Given the description of an element on the screen output the (x, y) to click on. 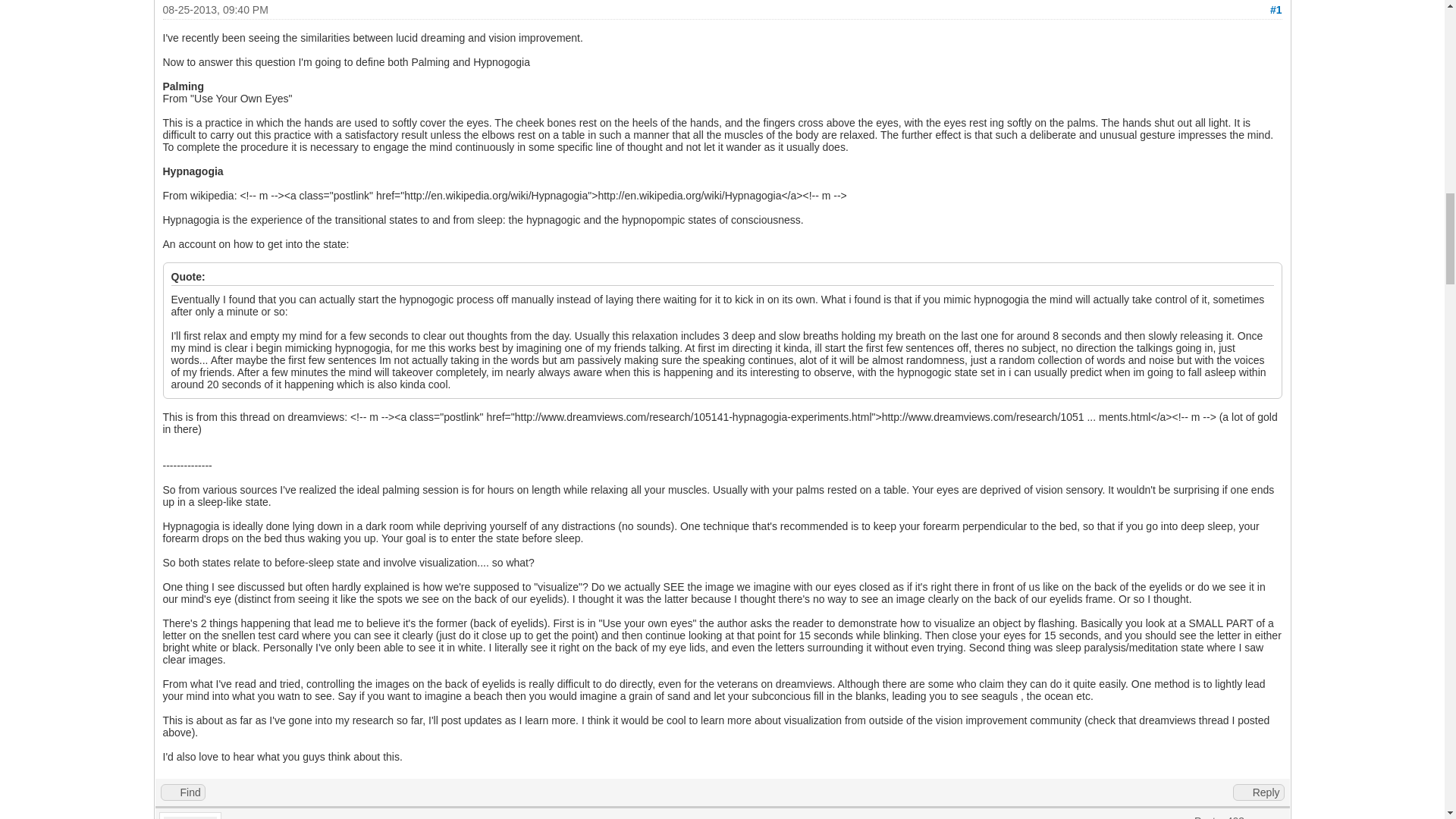
Find all posts by this user (182, 791)
Find (182, 791)
Quote this message in a reply (1258, 791)
Reply (1258, 791)
arocarty (252, 817)
